Given the description of an element on the screen output the (x, y) to click on. 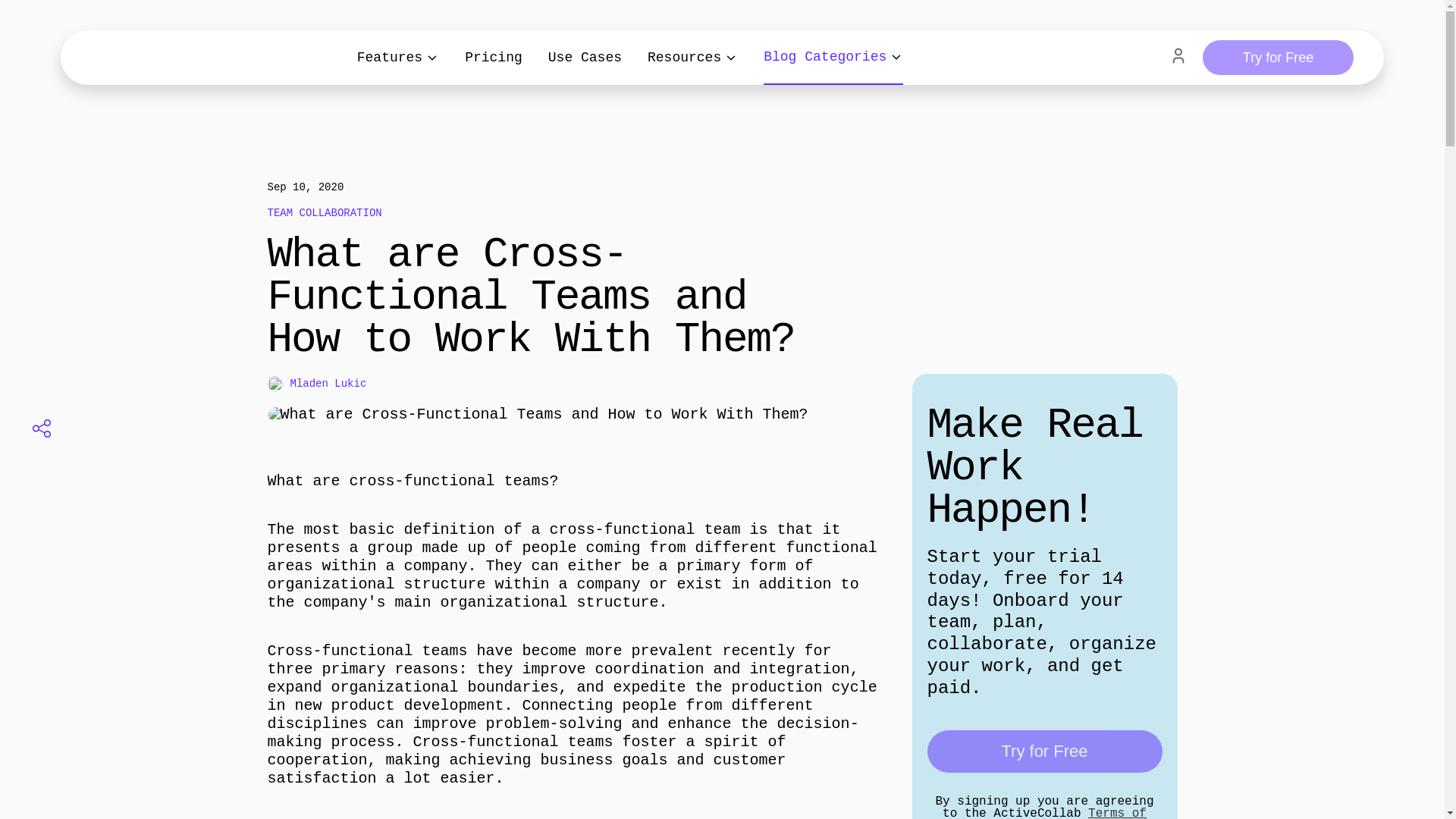
Try for Free (1278, 57)
Pricing (493, 57)
Use Cases (584, 57)
